Given the description of an element on the screen output the (x, y) to click on. 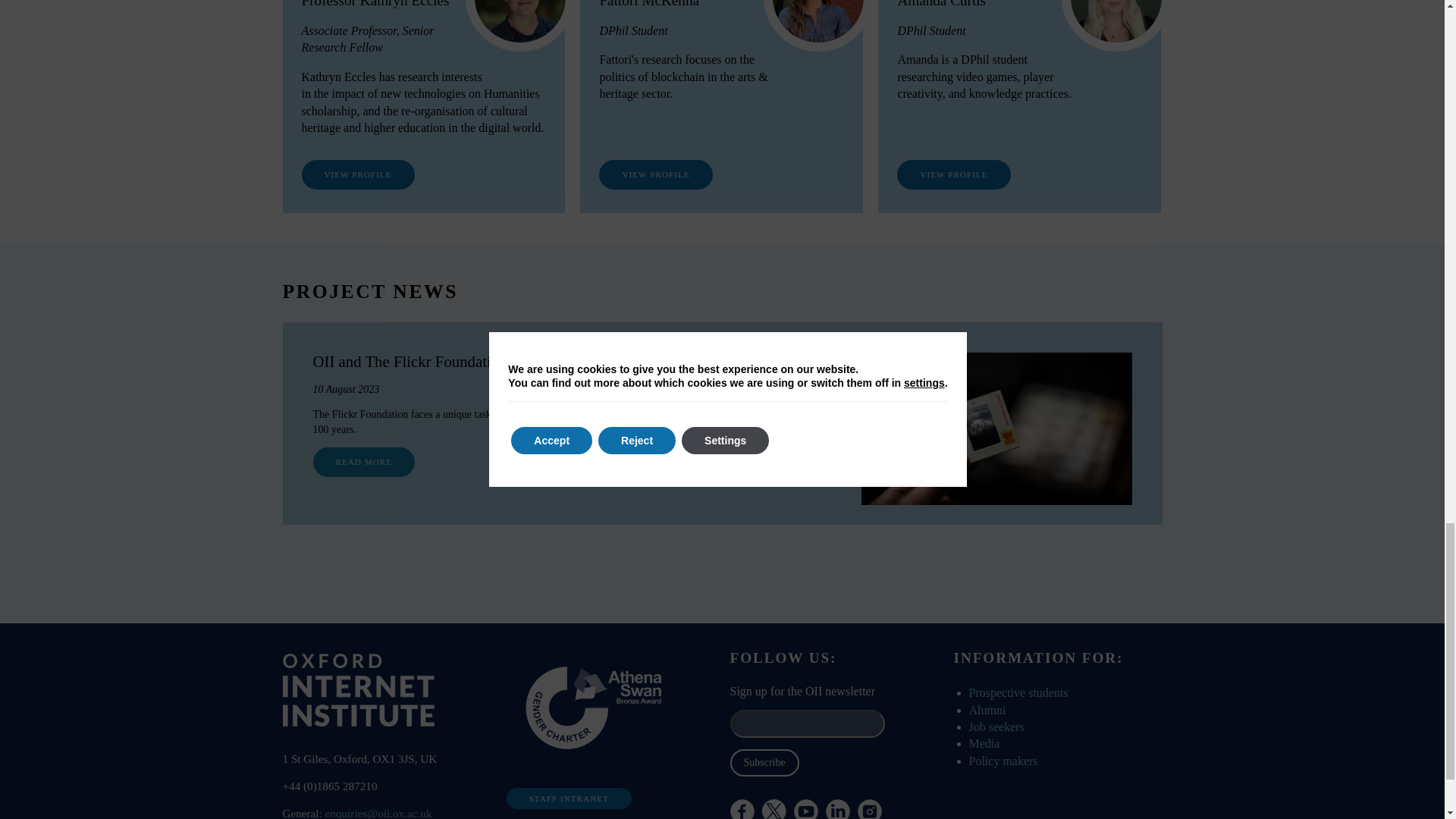
LinkedIn link (836, 809)
Instagram link (868, 809)
YouTube link (804, 809)
Twitter link (814, 809)
Facebook link (741, 809)
Subscribe (763, 762)
